Given the description of an element on the screen output the (x, y) to click on. 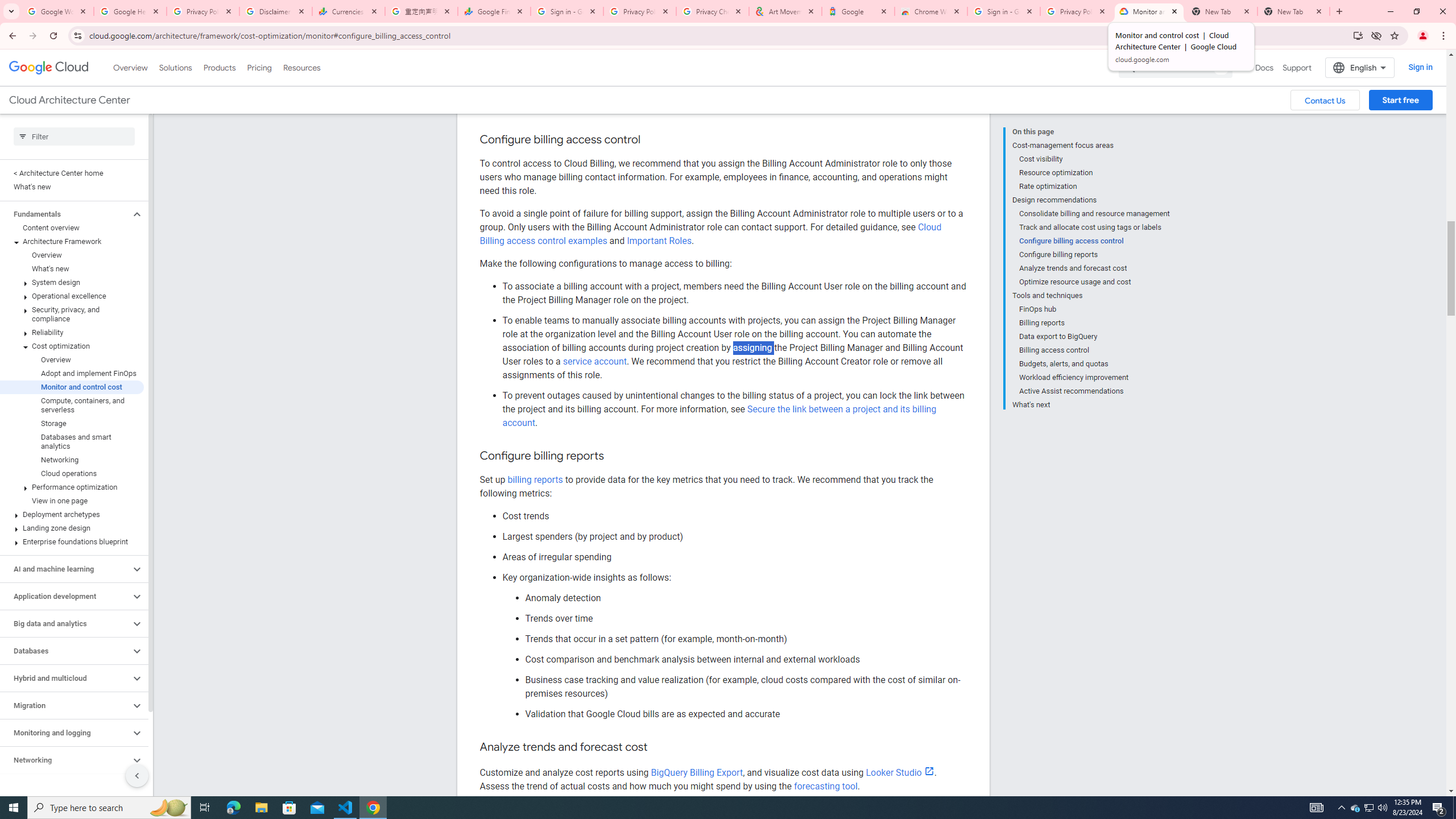
Security, privacy, and compliance (72, 314)
Cost visibility (1094, 159)
Configure billing reports (1094, 254)
service account (594, 361)
New Tab (1293, 11)
Workload efficiency improvement (1094, 377)
Migration (64, 705)
Chrome Web Store - Color themes by Chrome (930, 11)
Products (218, 67)
System design (72, 282)
